Given the description of an element on the screen output the (x, y) to click on. 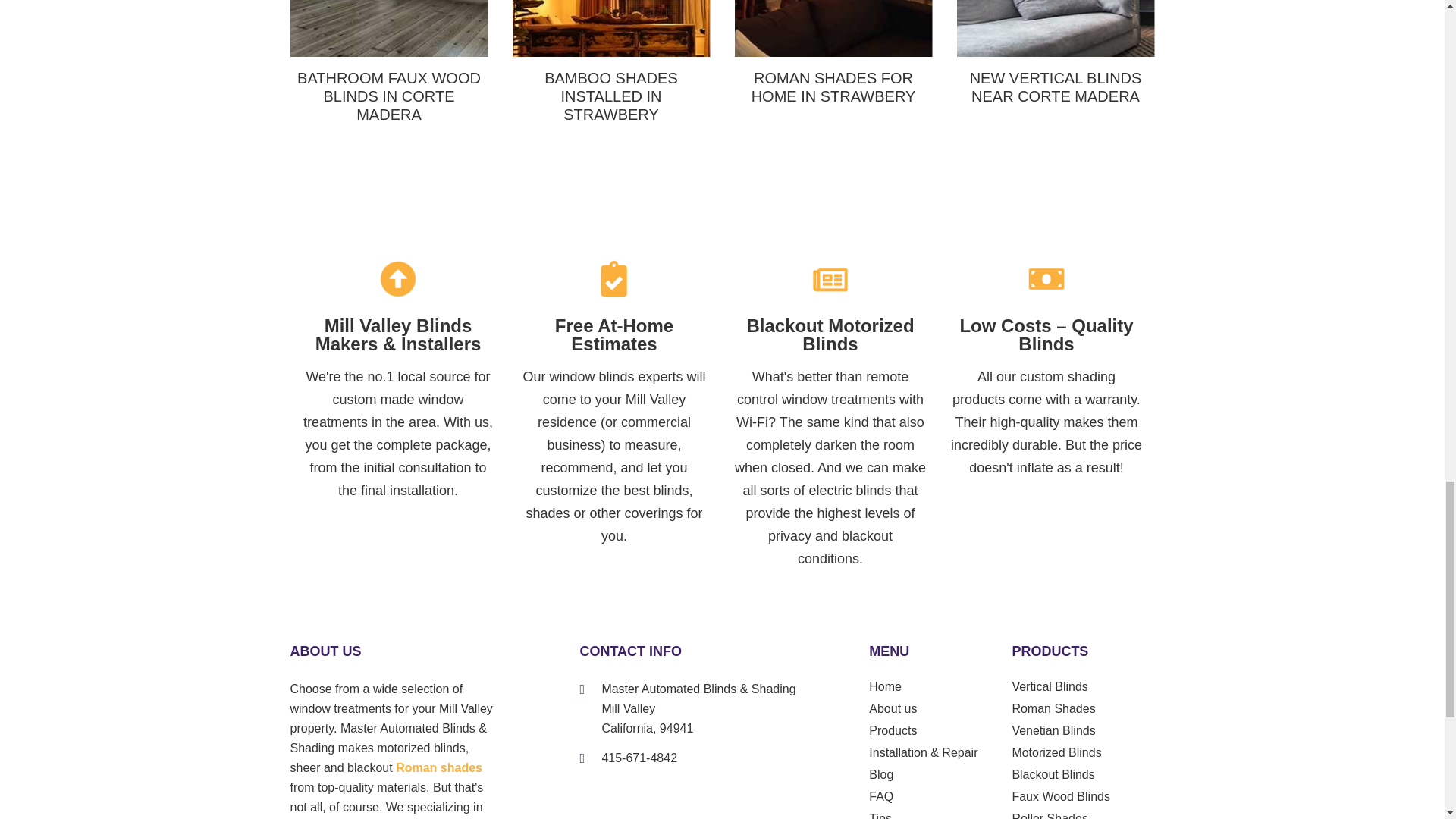
Free At-Home Estimates (614, 279)
Blackout Motorized Blinds (829, 279)
